Given the description of an element on the screen output the (x, y) to click on. 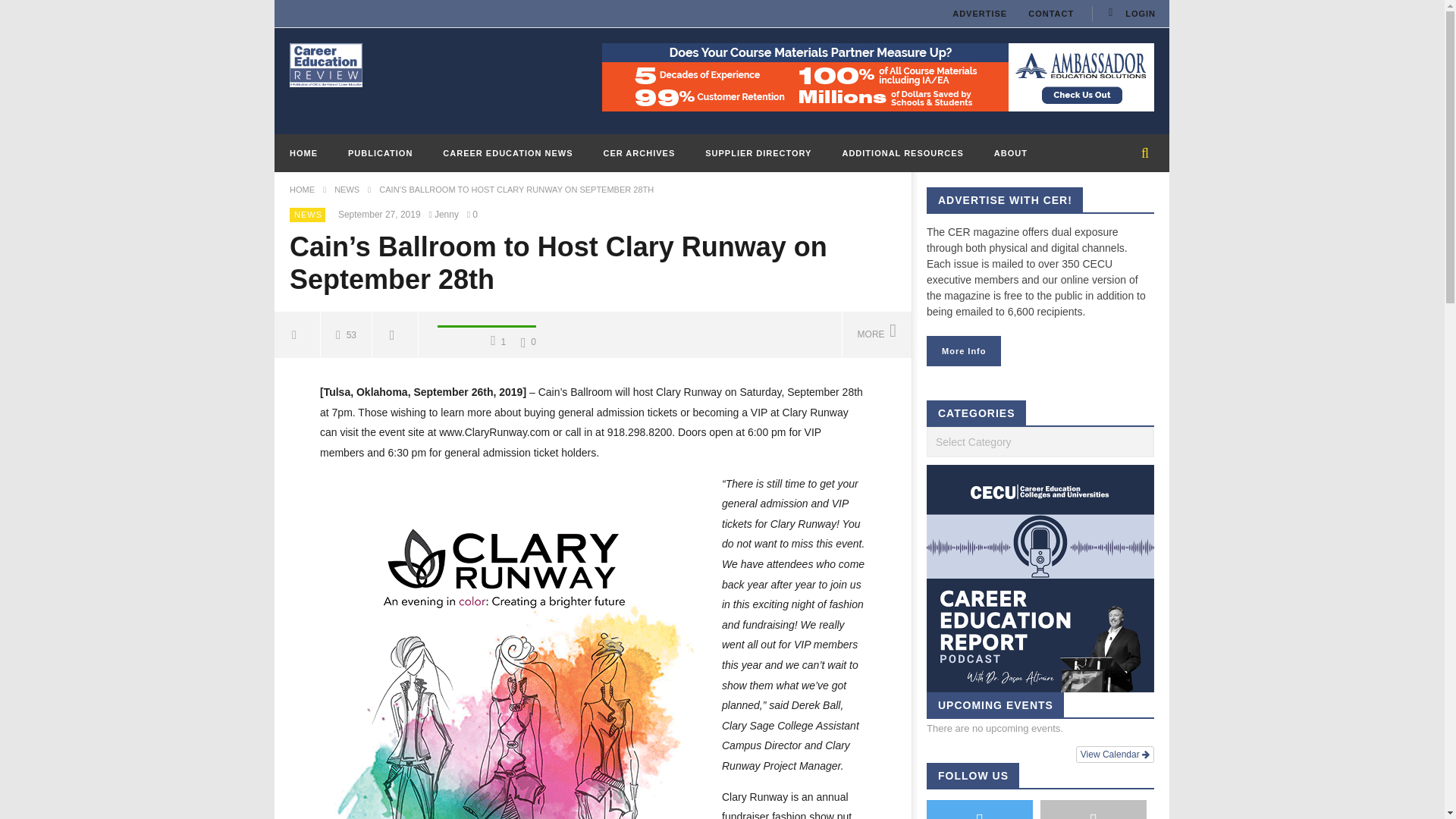
PUBLICATION (380, 152)
HOME (304, 152)
Career Education Review (325, 64)
CONTACT (1050, 13)
Posts by Jenny (446, 214)
CAREER EDUCATION NEWS (508, 152)
CER ARCHIVES (639, 152)
View all posts in News (307, 214)
LOGIN (1130, 13)
ADVERTISE (979, 13)
